Given the description of an element on the screen output the (x, y) to click on. 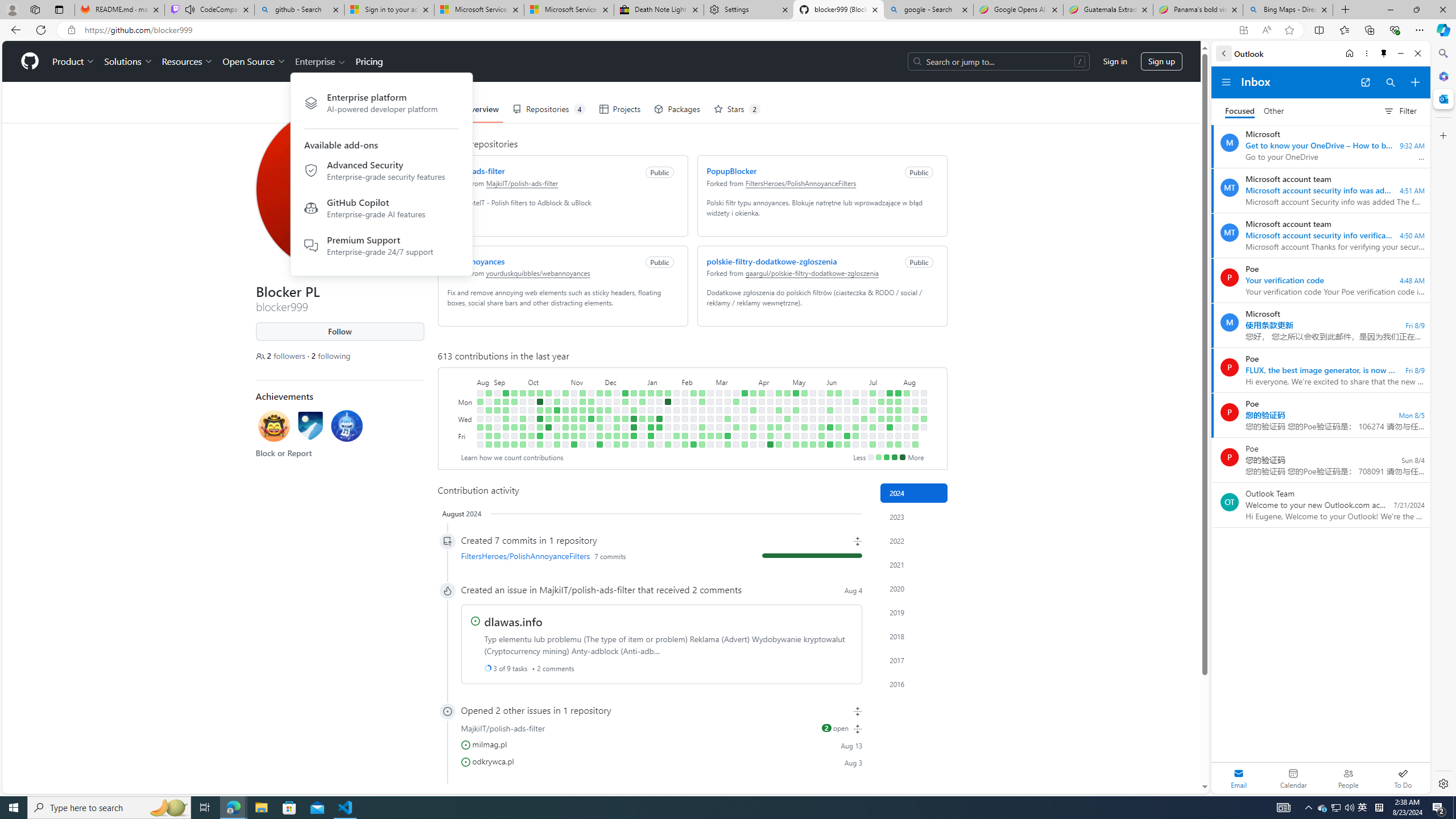
1 contribution on March 31st. (753, 392)
2 contributions on August 31st. (488, 427)
App available. Install GitHub (1243, 29)
1 contribution on October 18th. (547, 418)
7 commits (610, 556)
7 contributions on June 6th. (829, 427)
No contributions on February 4th. (684, 392)
Search (1442, 53)
No contributions on July 8th. (872, 401)
2 contributions on January 21st. (667, 392)
4 contributions on September 29th. (522, 435)
No contributions on August 7th. (906, 418)
No contributions on March 4th. (718, 401)
2 contributions on February 24th. (701, 444)
No contributions on August 18th. (923, 392)
